Given the description of an element on the screen output the (x, y) to click on. 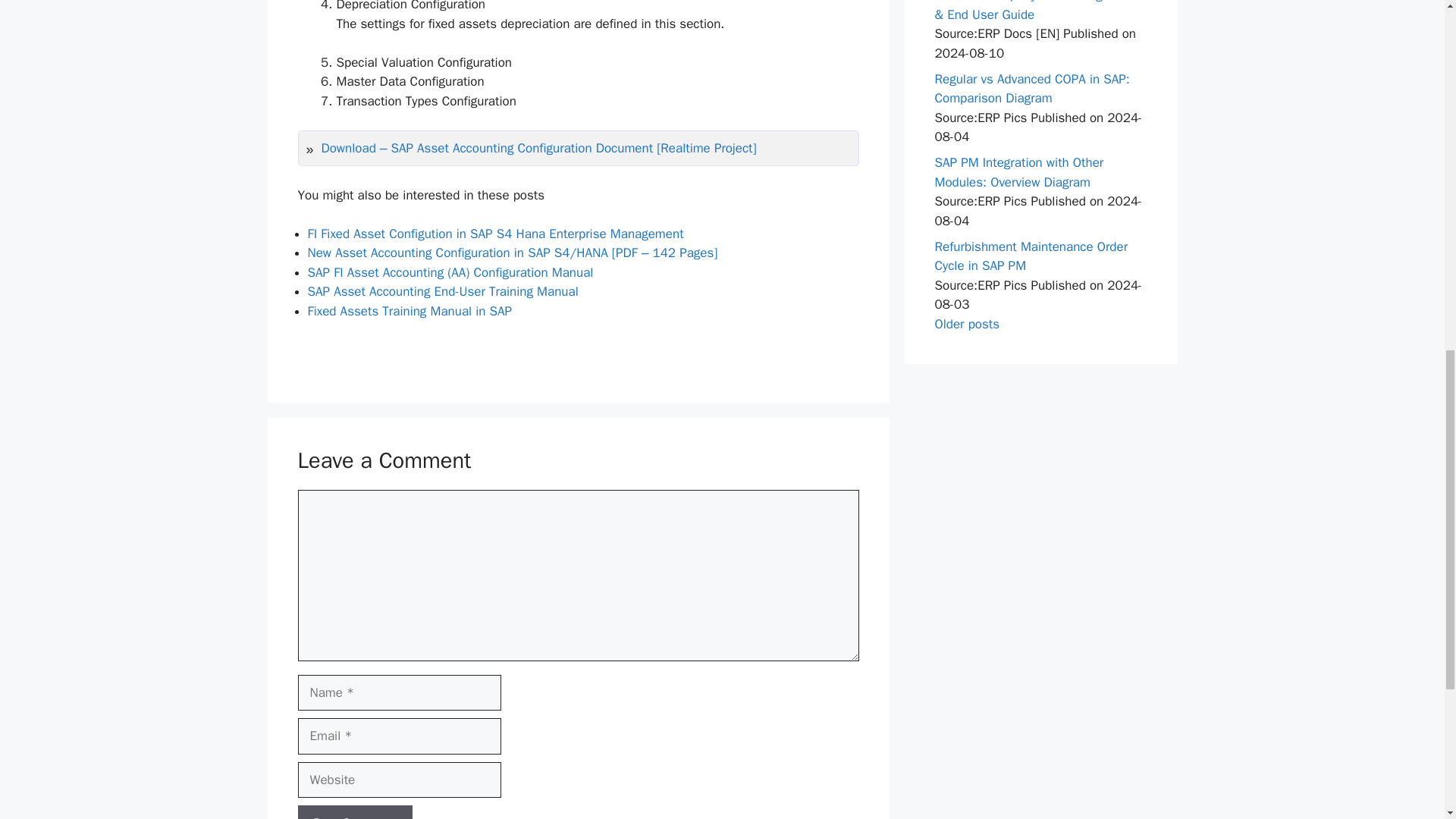
SAP Asset Accounting End-User Training Manual (442, 291)
Post Comment (354, 812)
SAP Asset Accounting End-User Training Manual (442, 291)
Fixed Assets Training Manual in SAP (409, 311)
Post Comment (354, 812)
Fixed Assets Training Manual in SAP (409, 311)
